Given the description of an element on the screen output the (x, y) to click on. 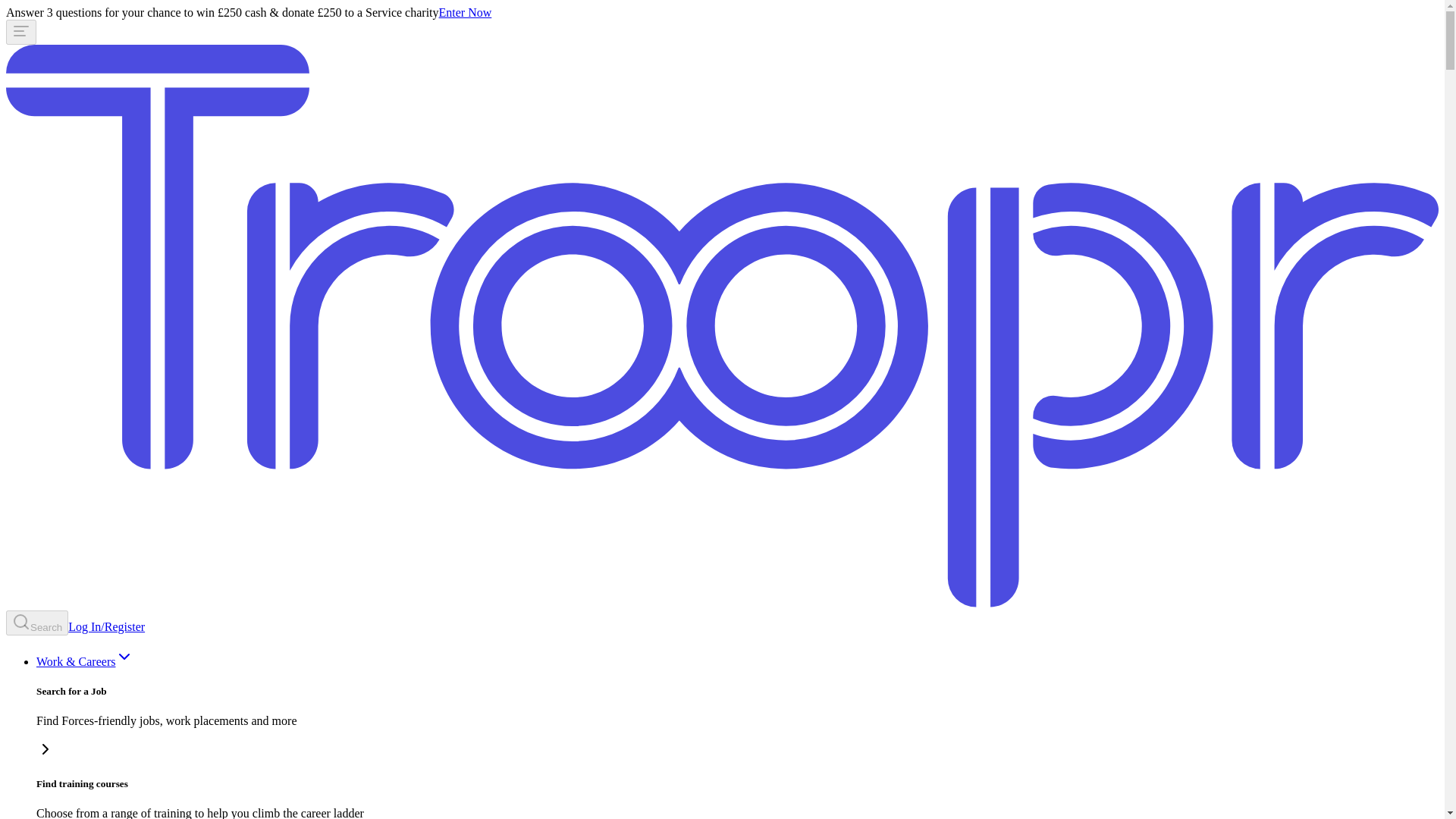
Enter Now (465, 11)
Search (36, 622)
